Given the description of an element on the screen output the (x, y) to click on. 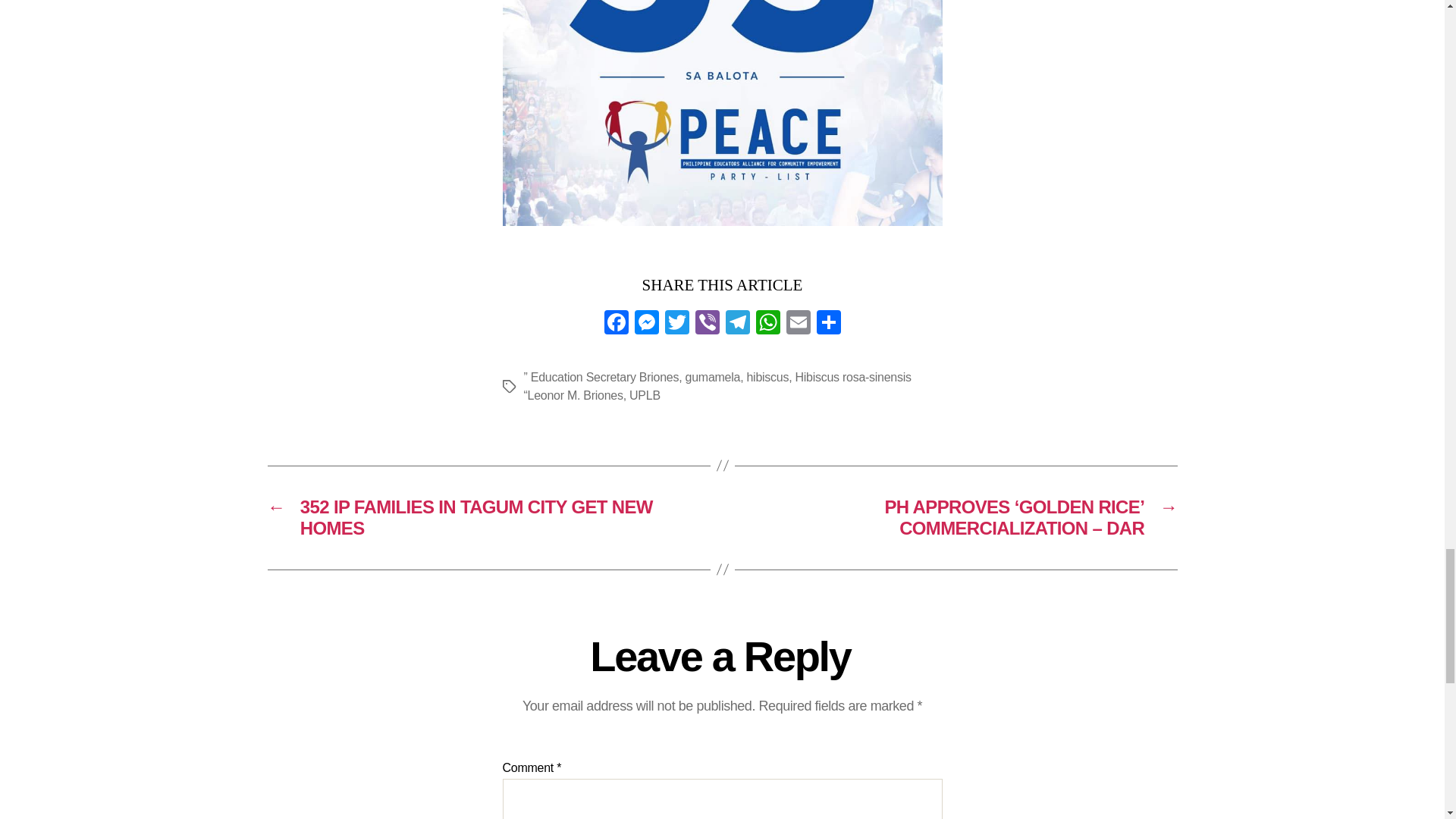
Facebook (614, 324)
Viber (706, 324)
Facebook (614, 324)
Twitter (676, 324)
WhatsApp (767, 324)
Viber (706, 324)
Telegram (737, 324)
Messenger (645, 324)
Email (797, 324)
Twitter (676, 324)
Messenger (645, 324)
